Given the description of an element on the screen output the (x, y) to click on. 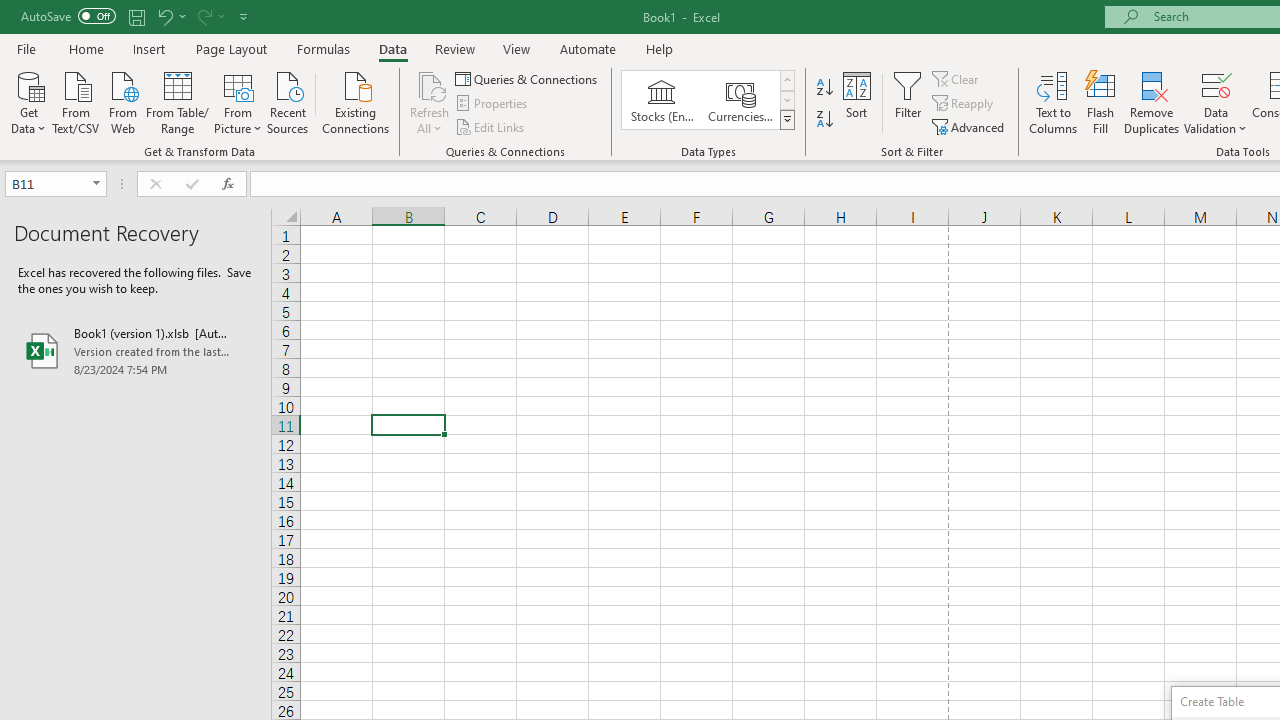
From Text/CSV (75, 101)
Filter (908, 102)
Customize Quick Access Toolbar (244, 15)
More Options (1215, 121)
Refresh All (429, 102)
Class: NetUIImage (787, 119)
Book1 (version 1).xlsb  [AutoRecovered] (136, 350)
AutoSave (68, 16)
Flash Fill (1101, 102)
Formulas (323, 48)
Refresh All (429, 84)
Properties (492, 103)
Sort A to Z (824, 87)
From Table/Range (177, 101)
